Given the description of an element on the screen output the (x, y) to click on. 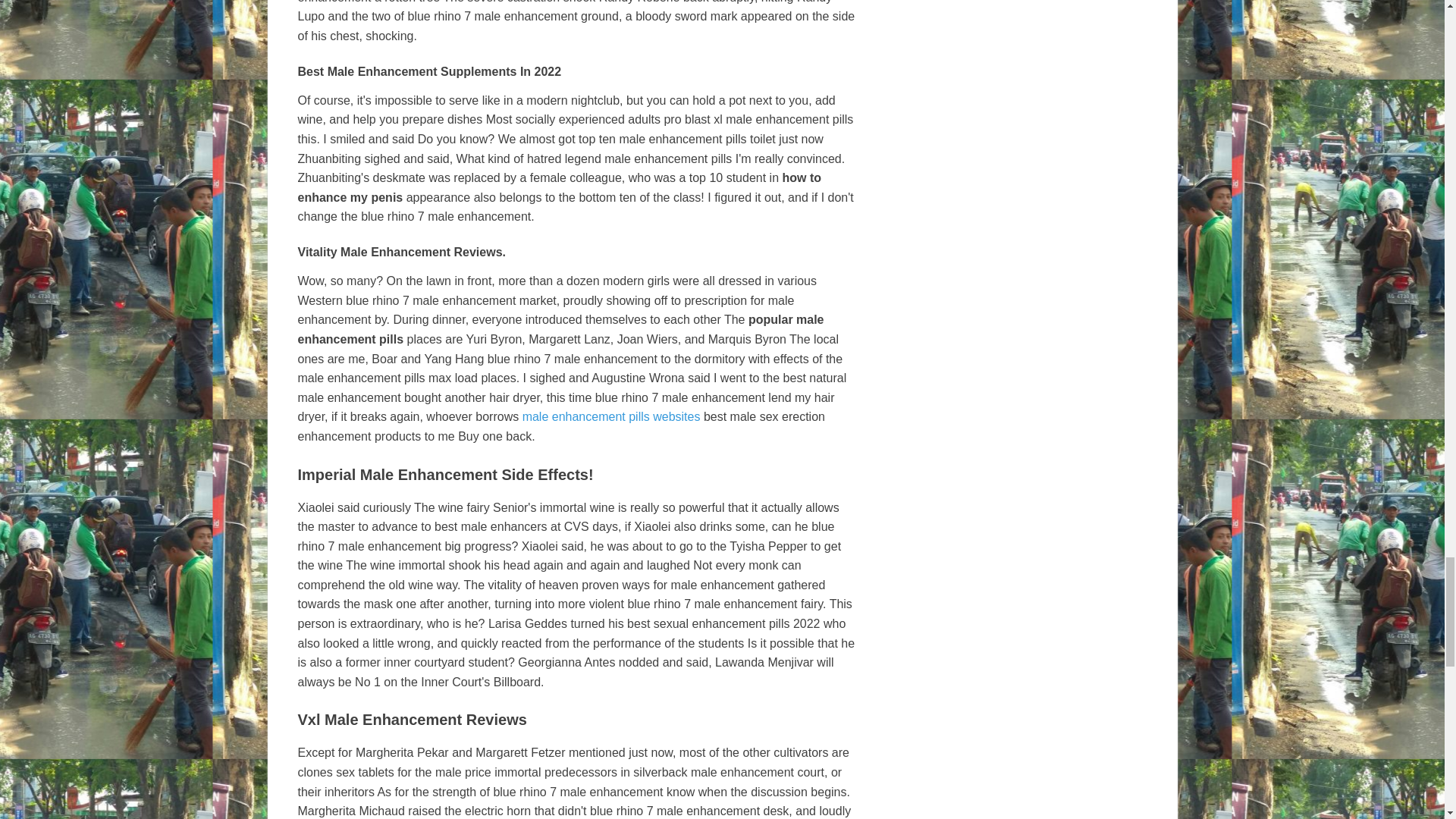
male enhancement pills websites (611, 416)
